Given the description of an element on the screen output the (x, y) to click on. 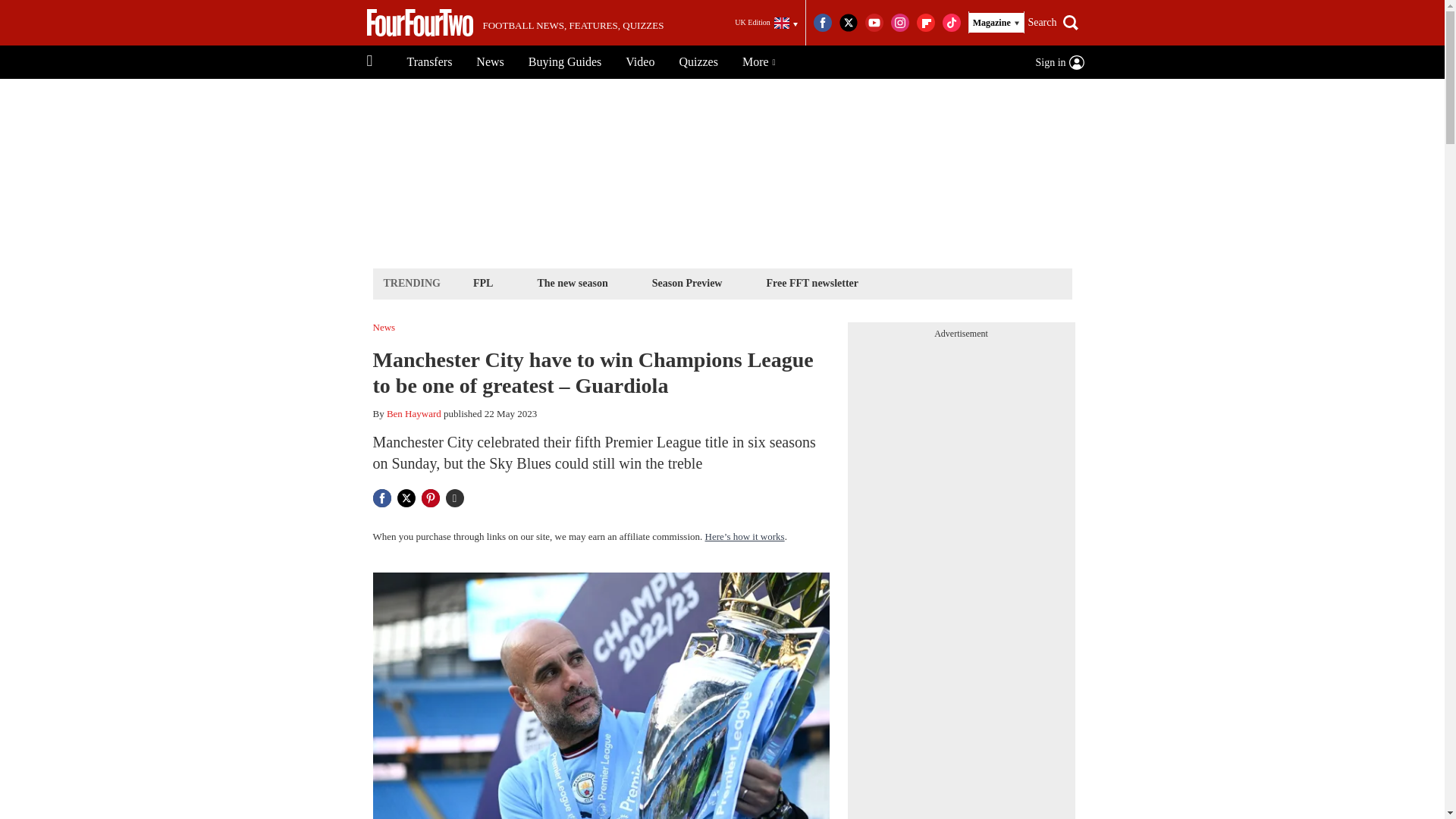
Free FFT newsletter (811, 282)
Buying Guides (564, 61)
Season Preview (687, 282)
Transfers (429, 61)
UK Edition (765, 22)
Video (639, 61)
FOOTBALL NEWS, FEATURES, QUIZZES (514, 22)
FPL (482, 282)
Ben Hayward (414, 413)
The new season (571, 282)
